Given the description of an element on the screen output the (x, y) to click on. 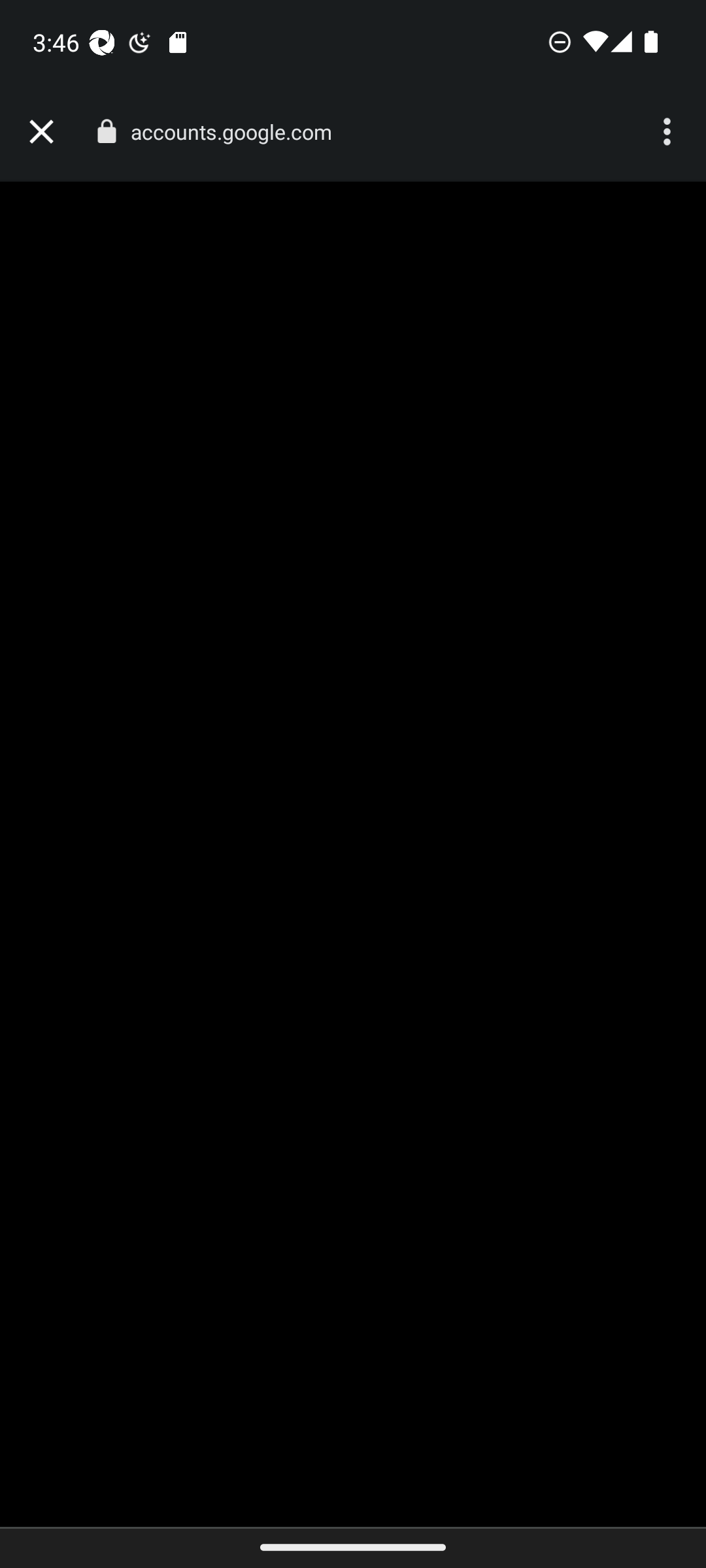
Close tab (41, 131)
More options (669, 131)
Connection is secure (106, 131)
accounts.google.com (237, 131)
